Given the description of an element on the screen output the (x, y) to click on. 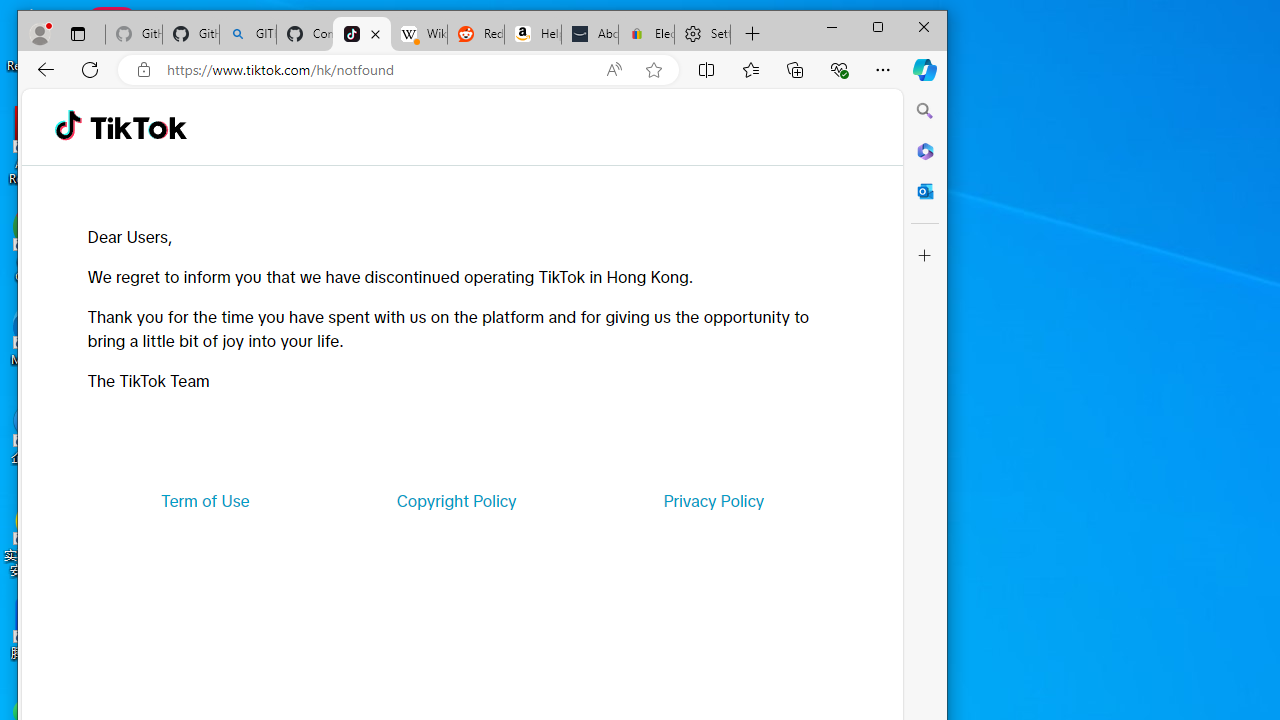
Reddit - Dive into anything (476, 34)
Copyright Policy (456, 500)
